Given the description of an element on the screen output the (x, y) to click on. 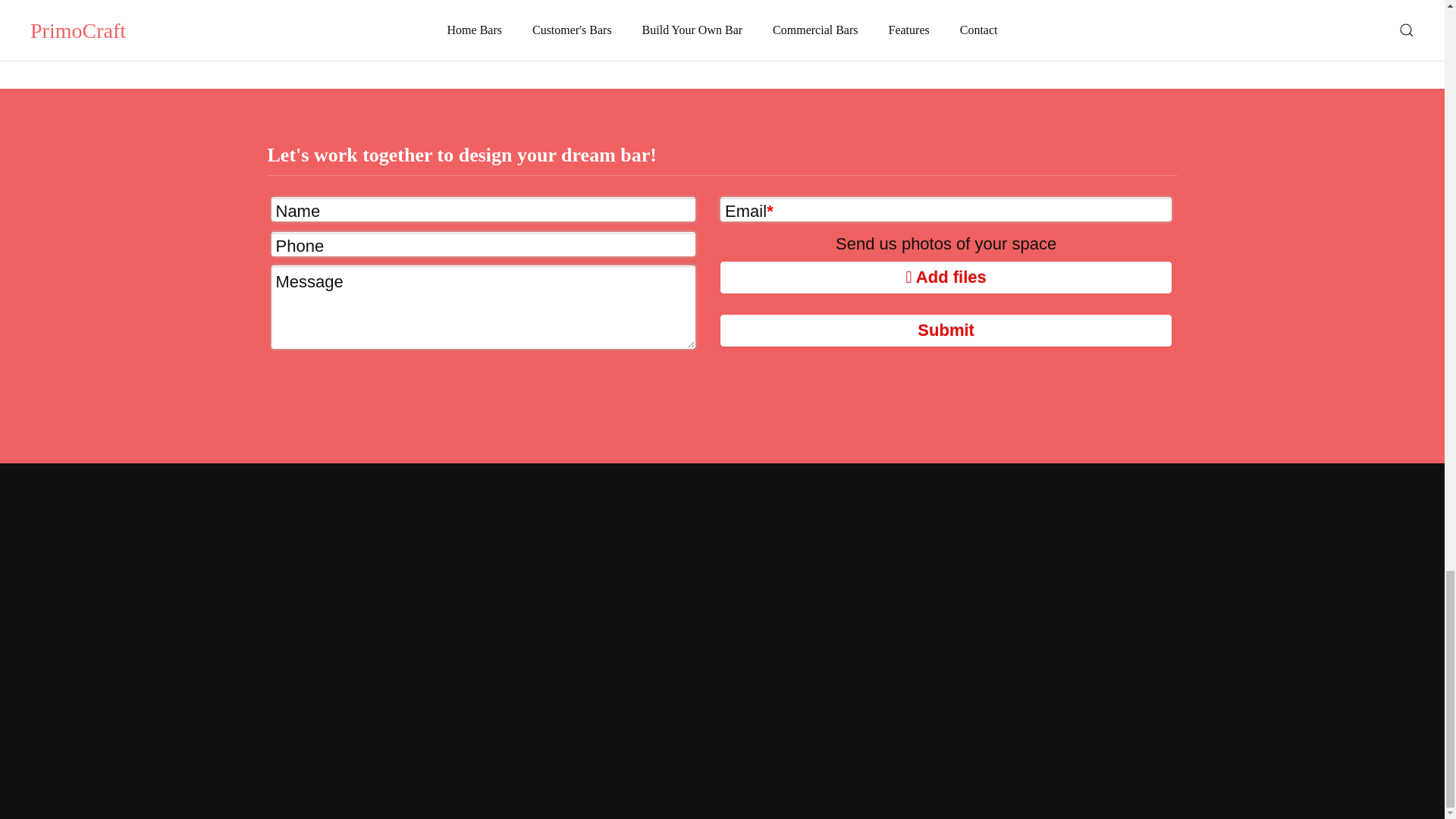
Submit (946, 330)
